Given the description of an element on the screen output the (x, y) to click on. 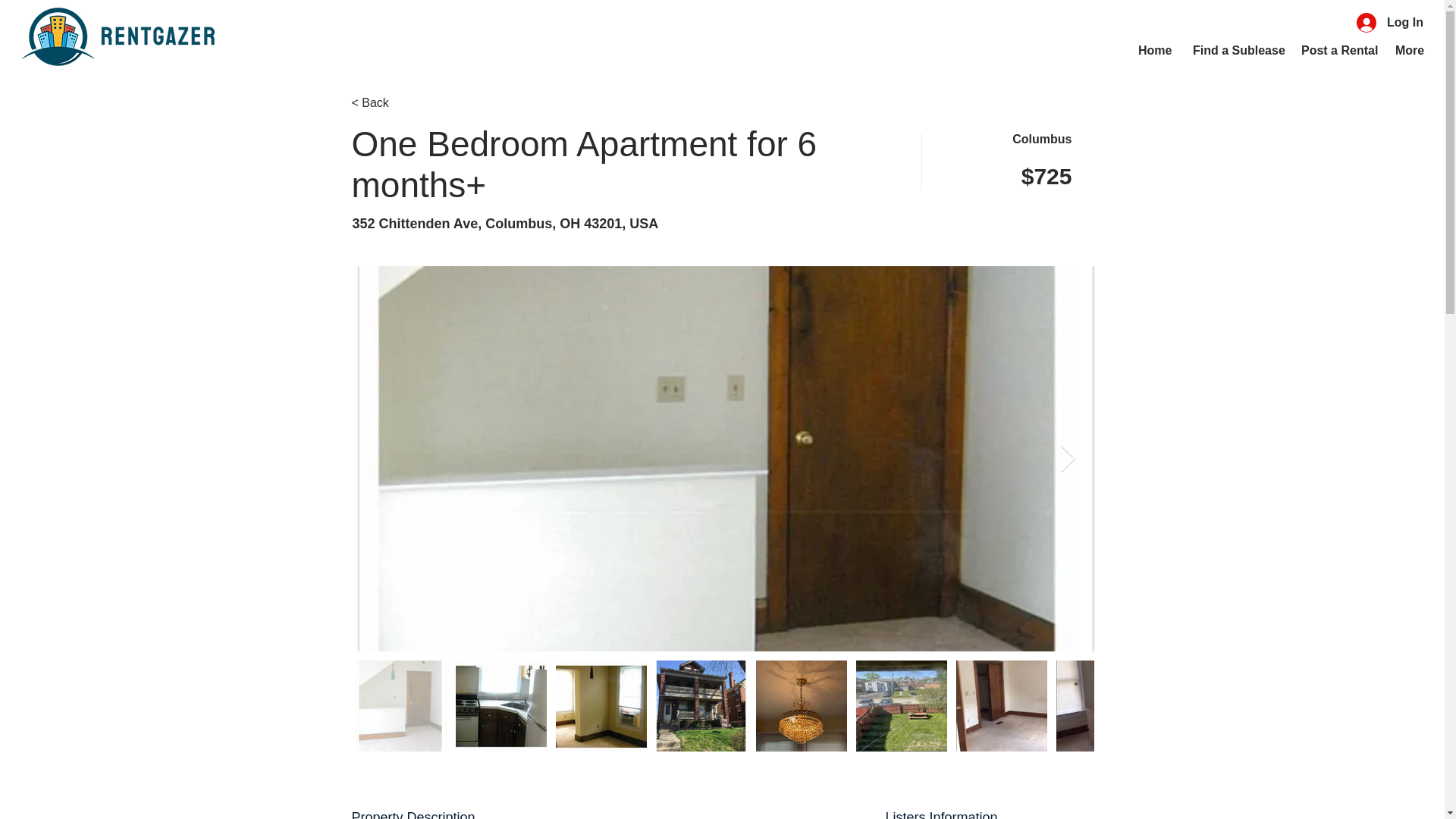
Log In (1389, 22)
Post a Rental (1337, 50)
Home (1153, 50)
Find a Sublease (1235, 50)
